Given the description of an element on the screen output the (x, y) to click on. 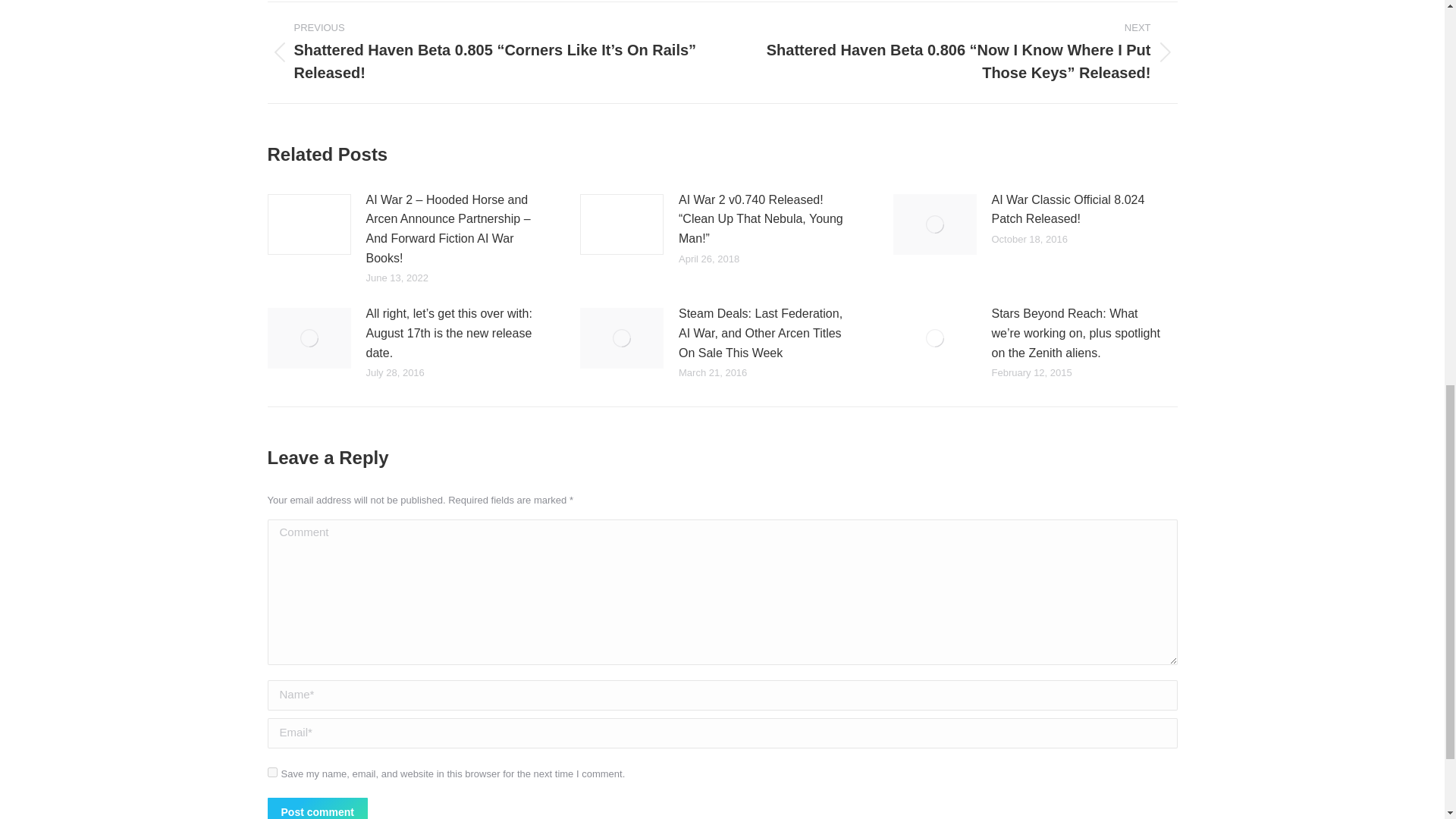
yes (271, 772)
